Given the description of an element on the screen output the (x, y) to click on. 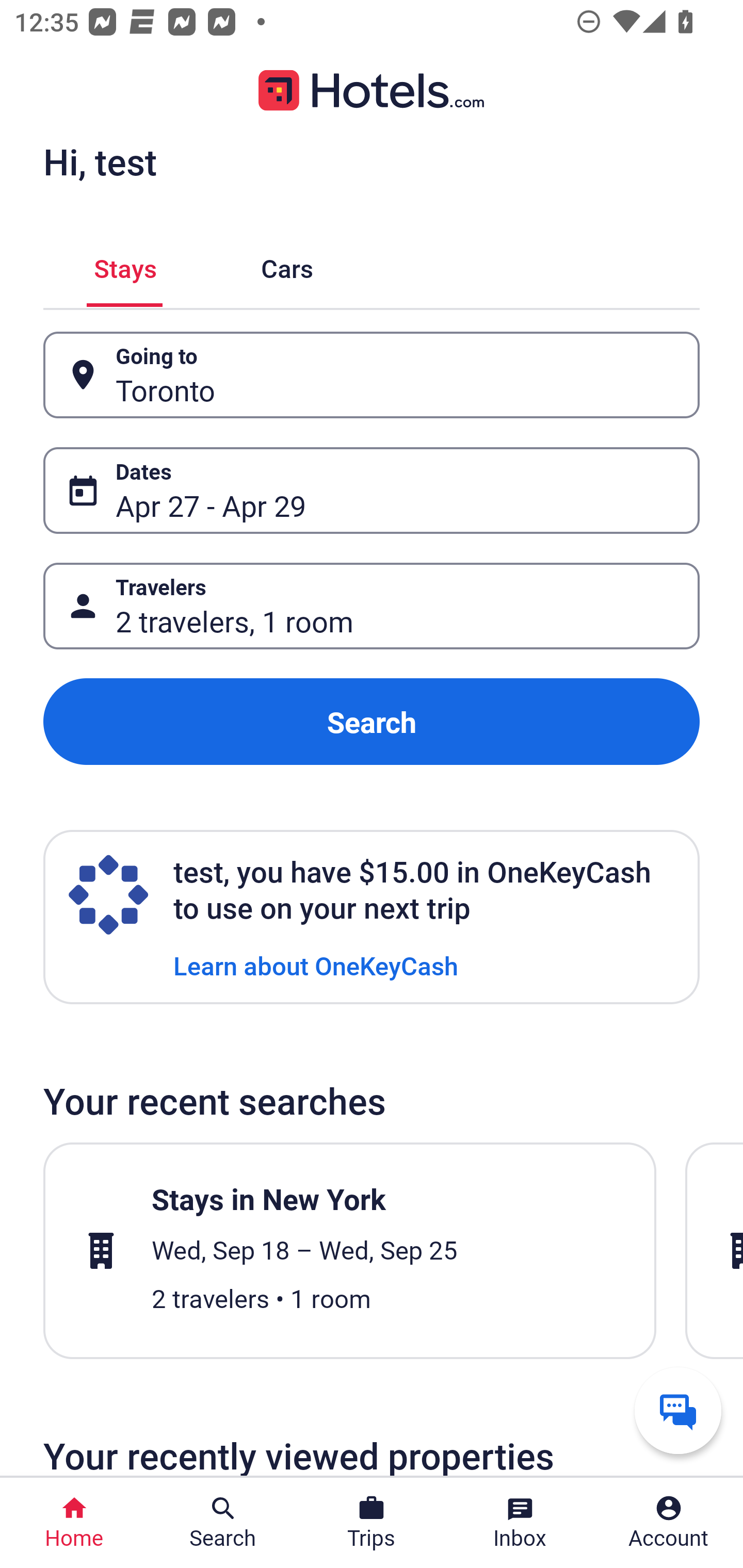
Hi, test (99, 161)
Cars (286, 265)
Going to Button Toronto (371, 375)
Dates Button Apr 27 - Apr 29 (371, 489)
Travelers Button 2 travelers, 1 room (371, 605)
Search (371, 721)
Learn about OneKeyCash Learn about OneKeyCash Link (315, 964)
Get help from a virtual agent (677, 1410)
Search Search Button (222, 1522)
Trips Trips Button (371, 1522)
Inbox Inbox Button (519, 1522)
Account Profile. Button (668, 1522)
